Given the description of an element on the screen output the (x, y) to click on. 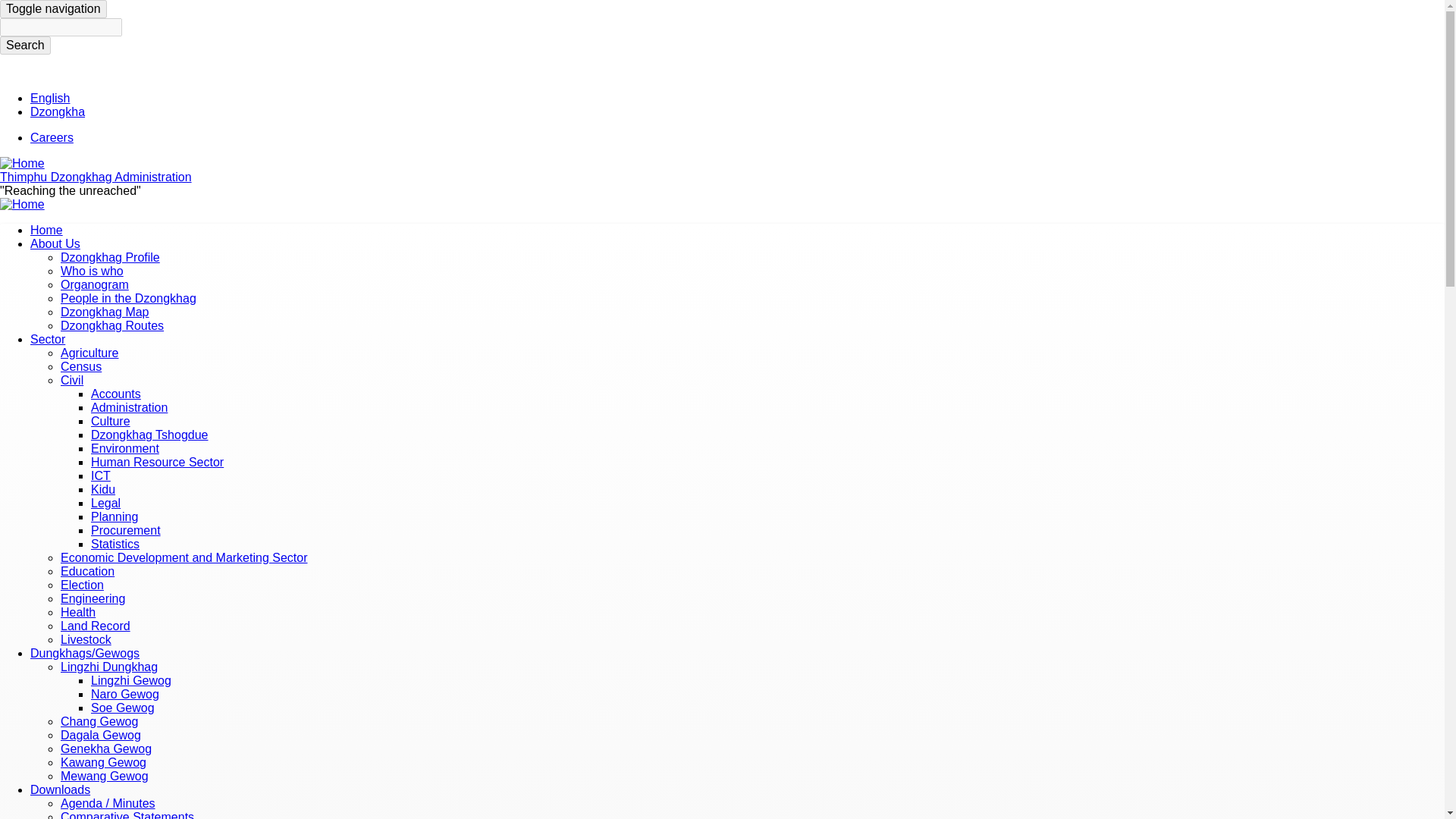
Kidu (102, 489)
ICT (100, 475)
Dzongkhag Tshogdue (149, 434)
Home (46, 229)
About Us (55, 243)
Human Resource Sector (157, 461)
Education (88, 571)
English (49, 97)
Planning (114, 516)
Search (25, 45)
People in the Dzongkhag (128, 297)
Census (81, 366)
Home (22, 163)
Thimphu Dzongkhag Administration (96, 176)
